Given the description of an element on the screen output the (x, y) to click on. 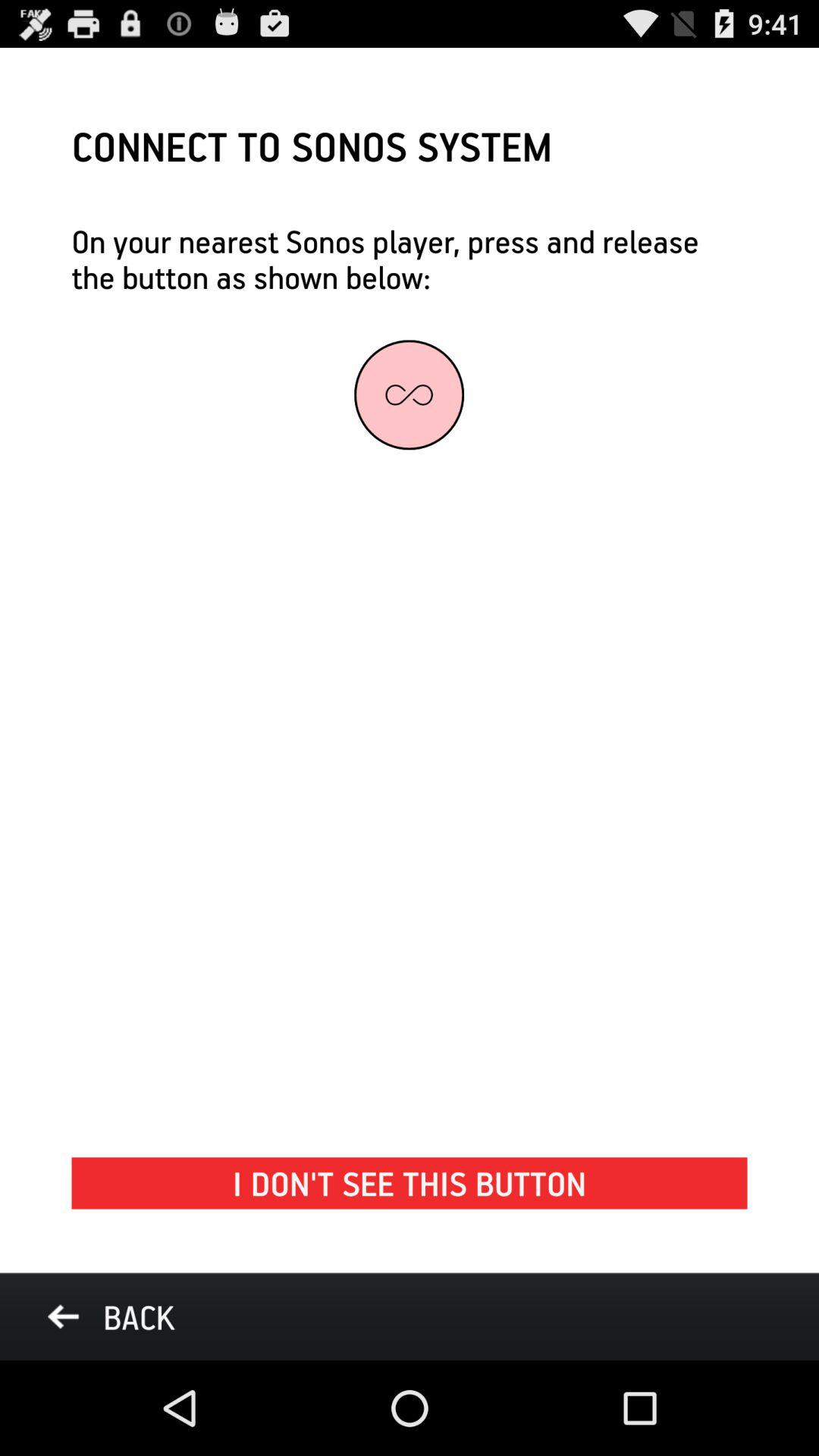
turn on the back at the bottom left corner (111, 1316)
